Given the description of an element on the screen output the (x, y) to click on. 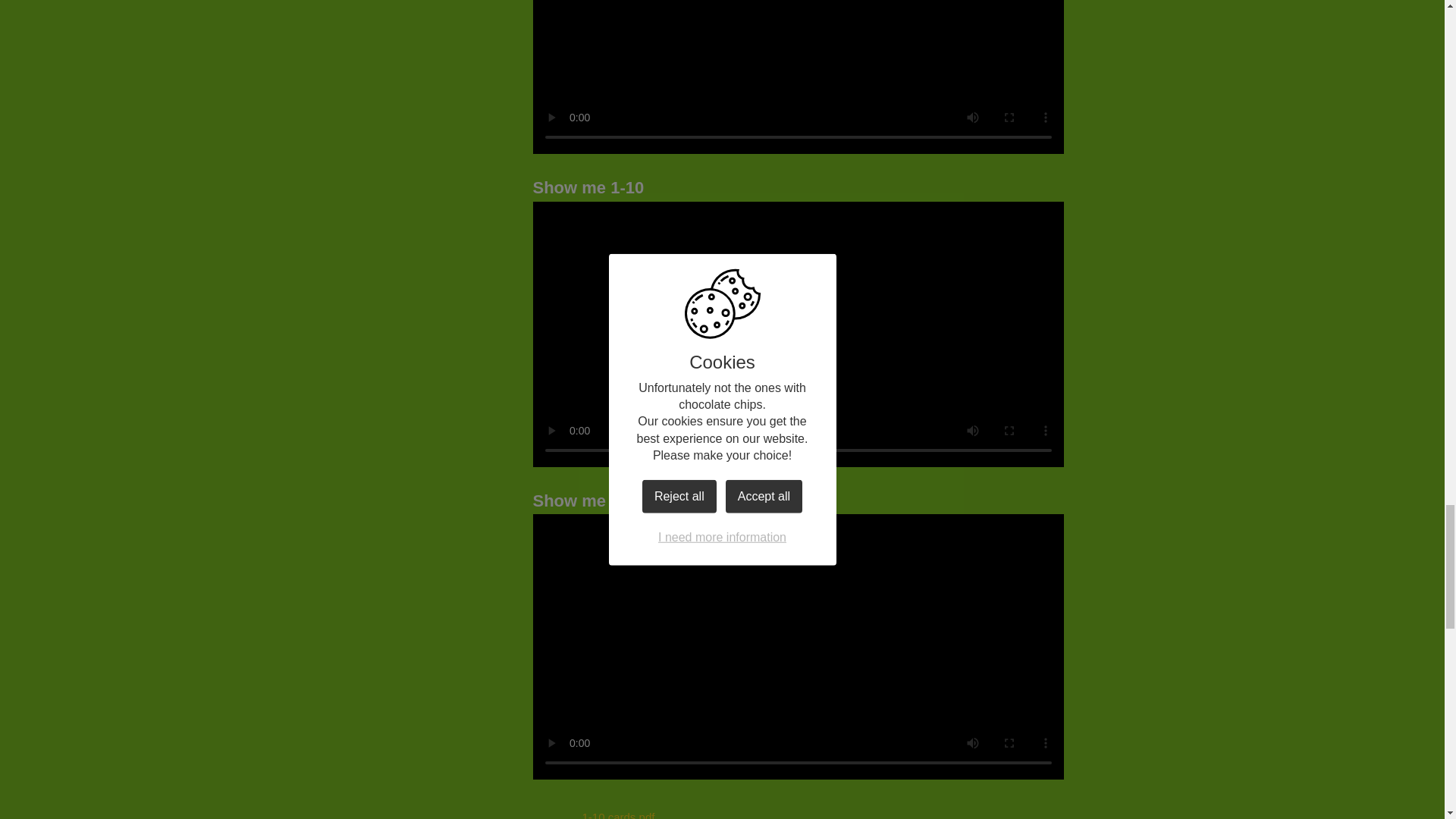
1-10 cards.pdf (592, 809)
